Given the description of an element on the screen output the (x, y) to click on. 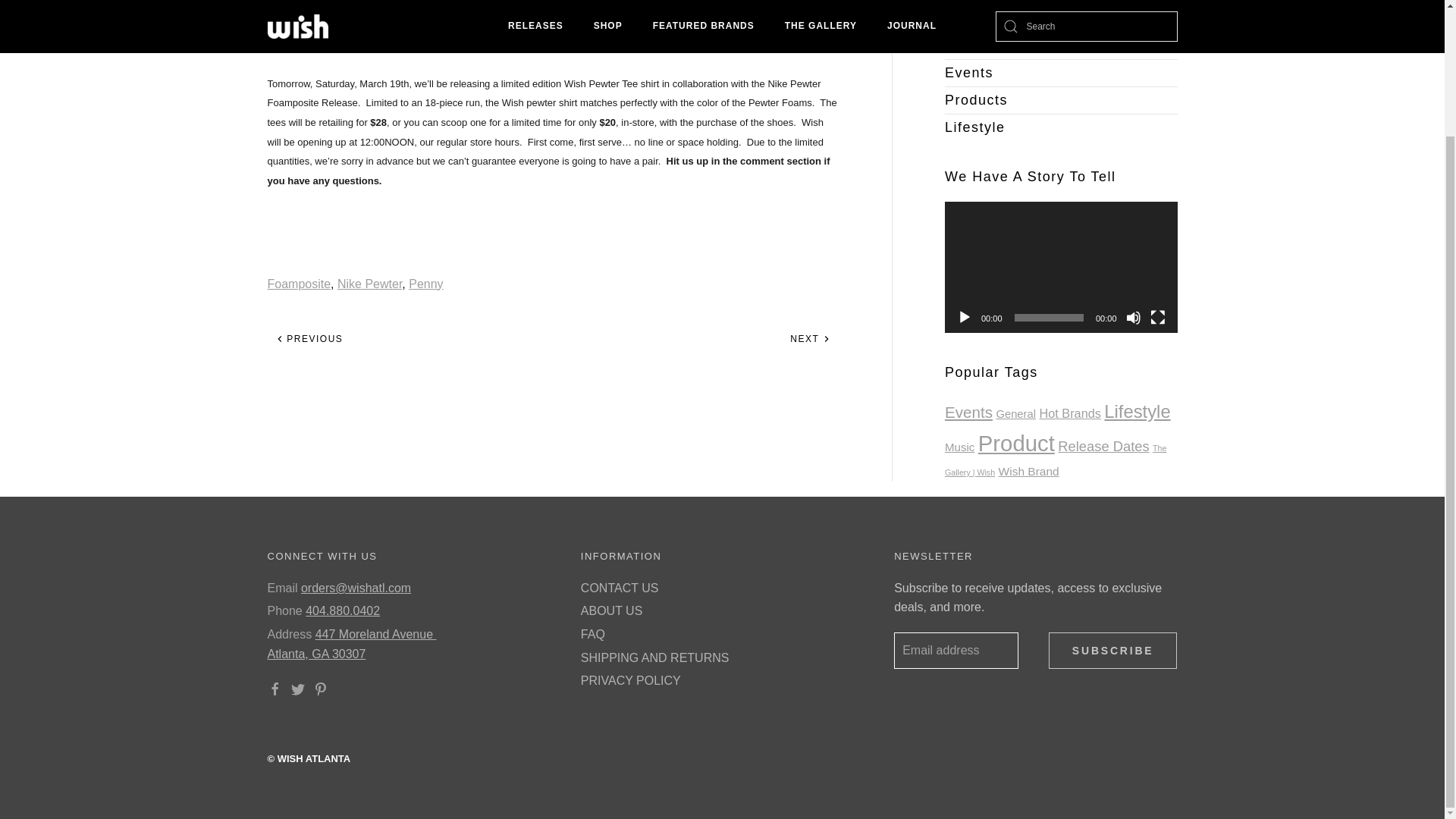
PREVIOUS (308, 338)
Nike Pewter (369, 283)
Lifestyle (1060, 127)
Events (968, 411)
PRODUCT (611, 3)
Hot Brands (1060, 45)
Products (1060, 99)
Penny (425, 283)
Play (964, 317)
Fullscreen (1157, 317)
